Given the description of an element on the screen output the (x, y) to click on. 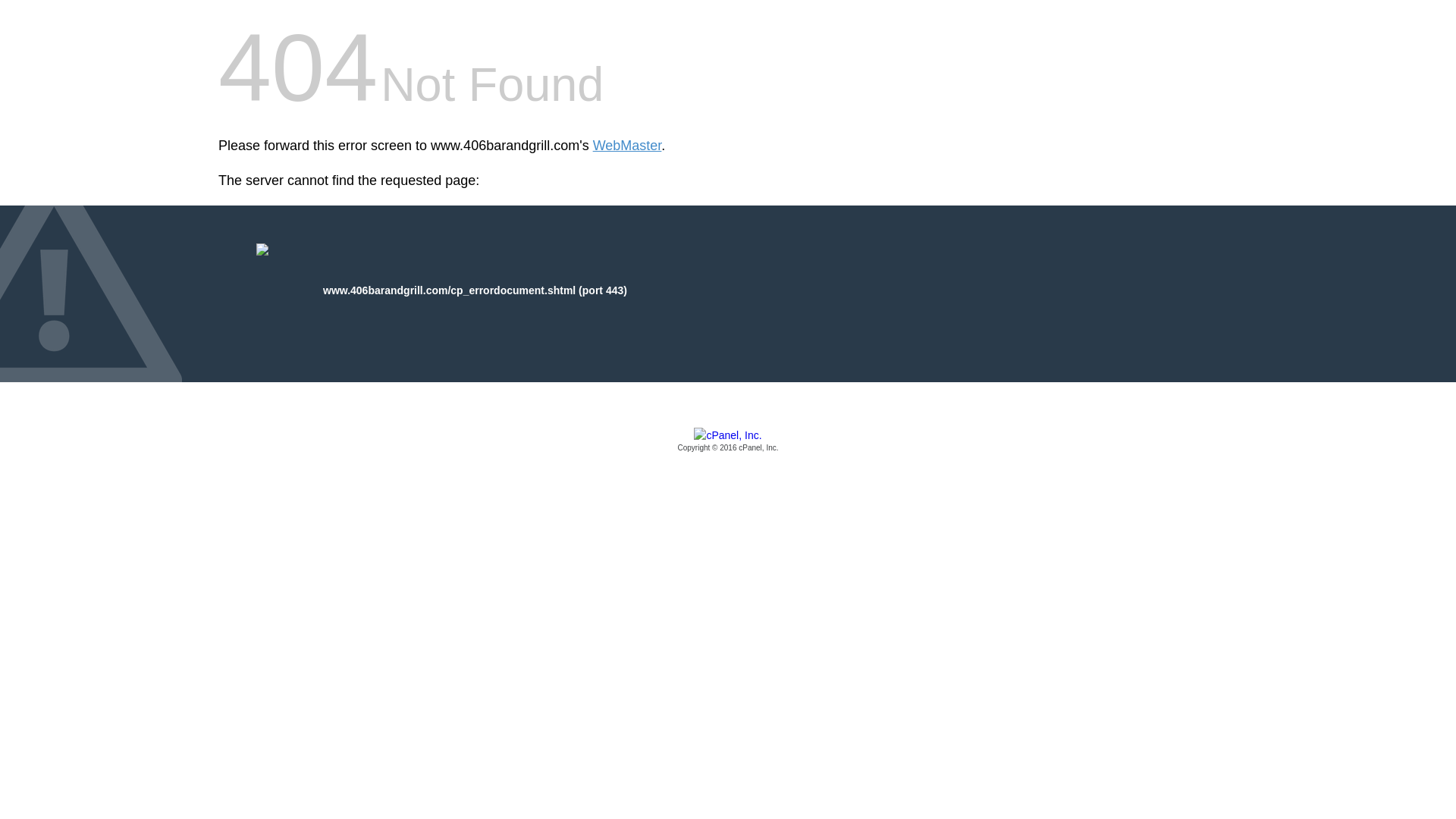
WebMaster Element type: text (627, 145)
